Given the description of an element on the screen output the (x, y) to click on. 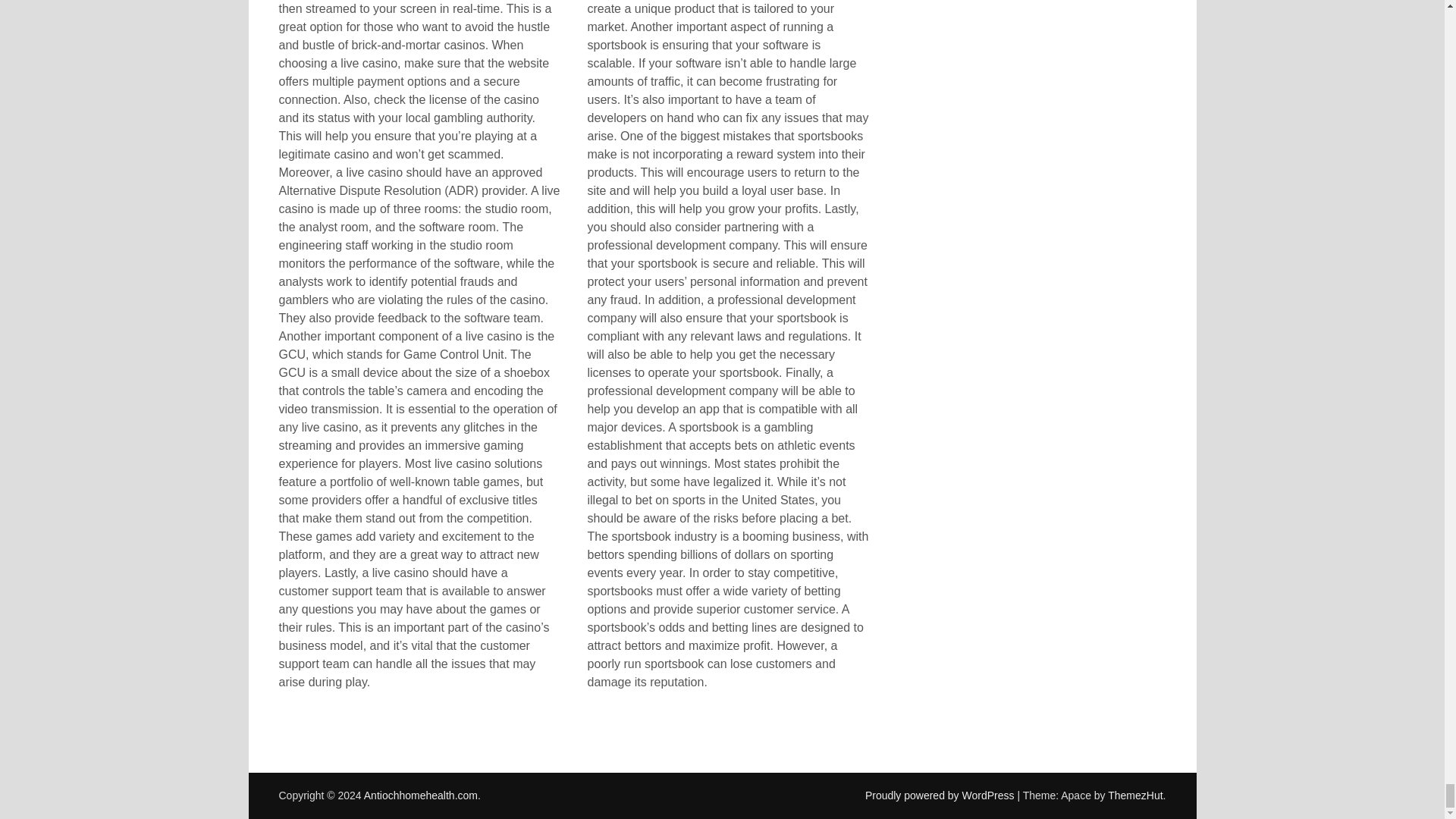
Antiochhomehealth.com (420, 795)
